Given the description of an element on the screen output the (x, y) to click on. 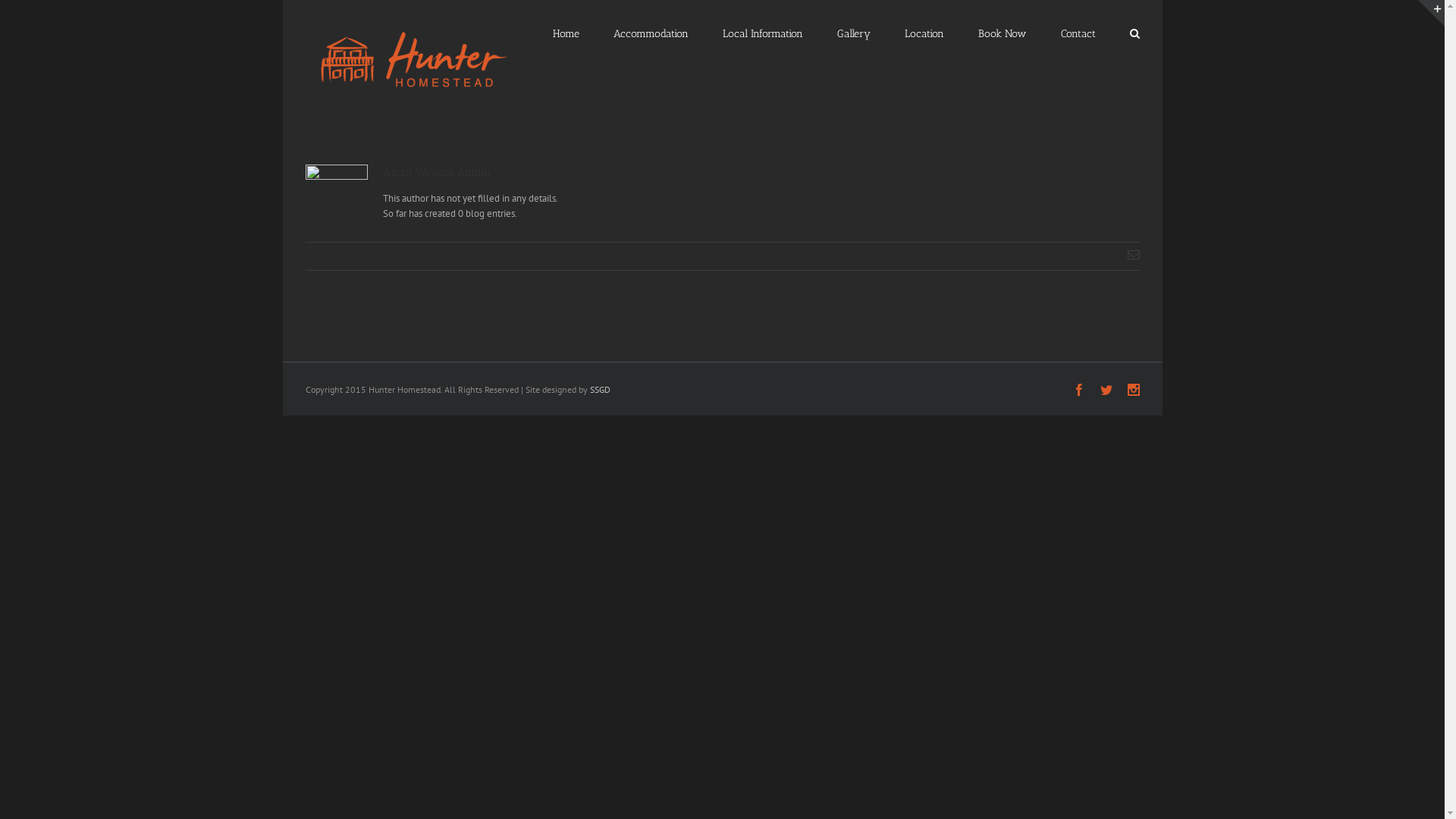
Home Element type: text (565, 32)
Contact Element type: text (1077, 32)
Mail Element type: hover (1132, 254)
Accommodation Element type: text (649, 32)
Facebook Element type: hover (1078, 389)
Instagram Element type: hover (1132, 389)
Book Now Element type: text (1002, 32)
Local Information Element type: text (761, 32)
Gallery Element type: text (853, 32)
SSGD Element type: text (597, 389)
Twitter Element type: hover (1105, 389)
Location Element type: text (923, 32)
